Given the description of an element on the screen output the (x, y) to click on. 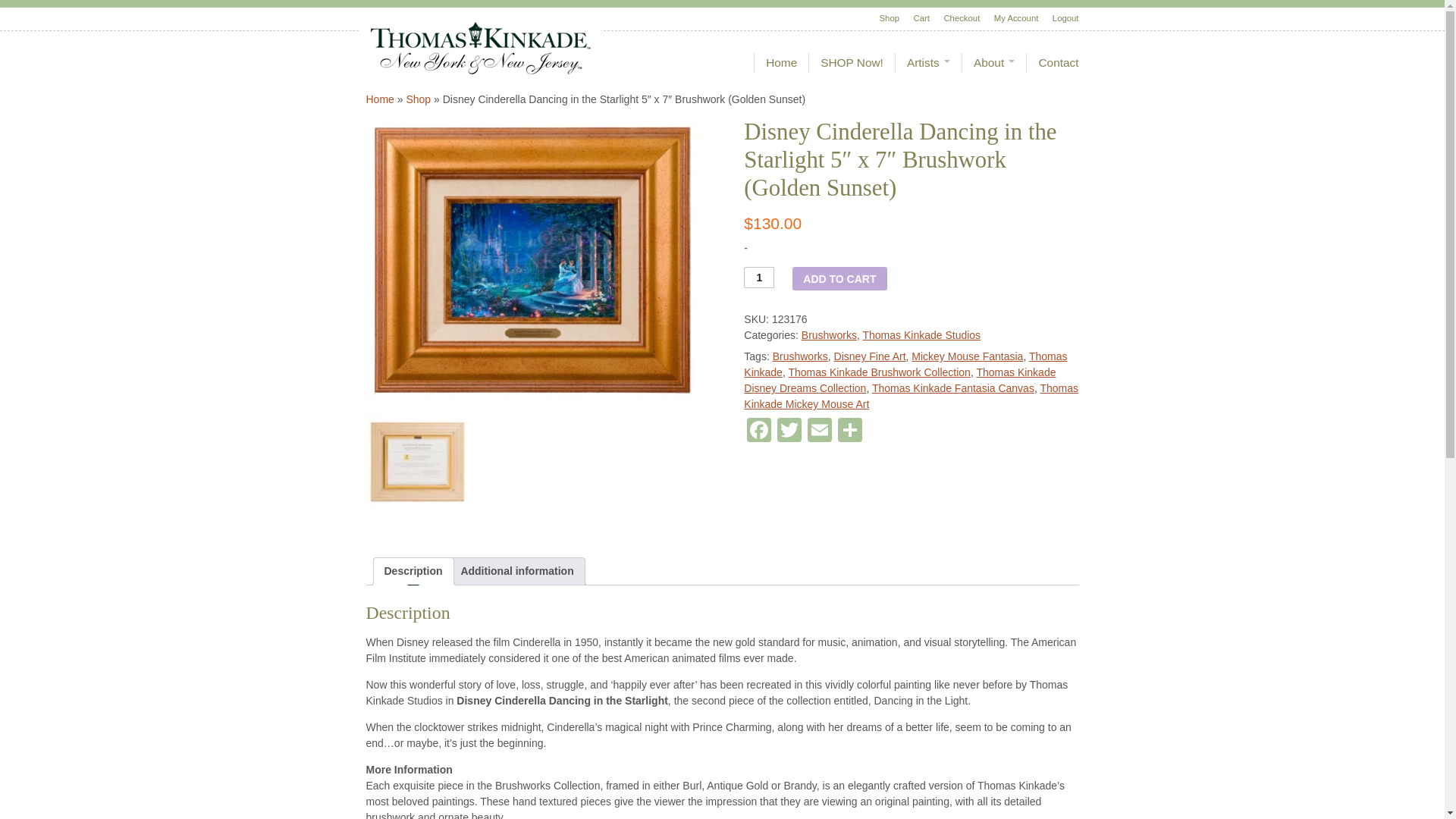
Email (819, 431)
Contact (1057, 62)
123176-1 (532, 259)
Twitter (789, 431)
Shop (883, 17)
Home (781, 62)
Facebook (759, 431)
Mickey Mouse Fantasia (967, 356)
Shop (418, 99)
brushworks-alt-back-1024x1024 (416, 461)
Cart (916, 17)
Brushworks (829, 335)
SHOP Now! (851, 62)
Disney Fine Art (869, 356)
